Given the description of an element on the screen output the (x, y) to click on. 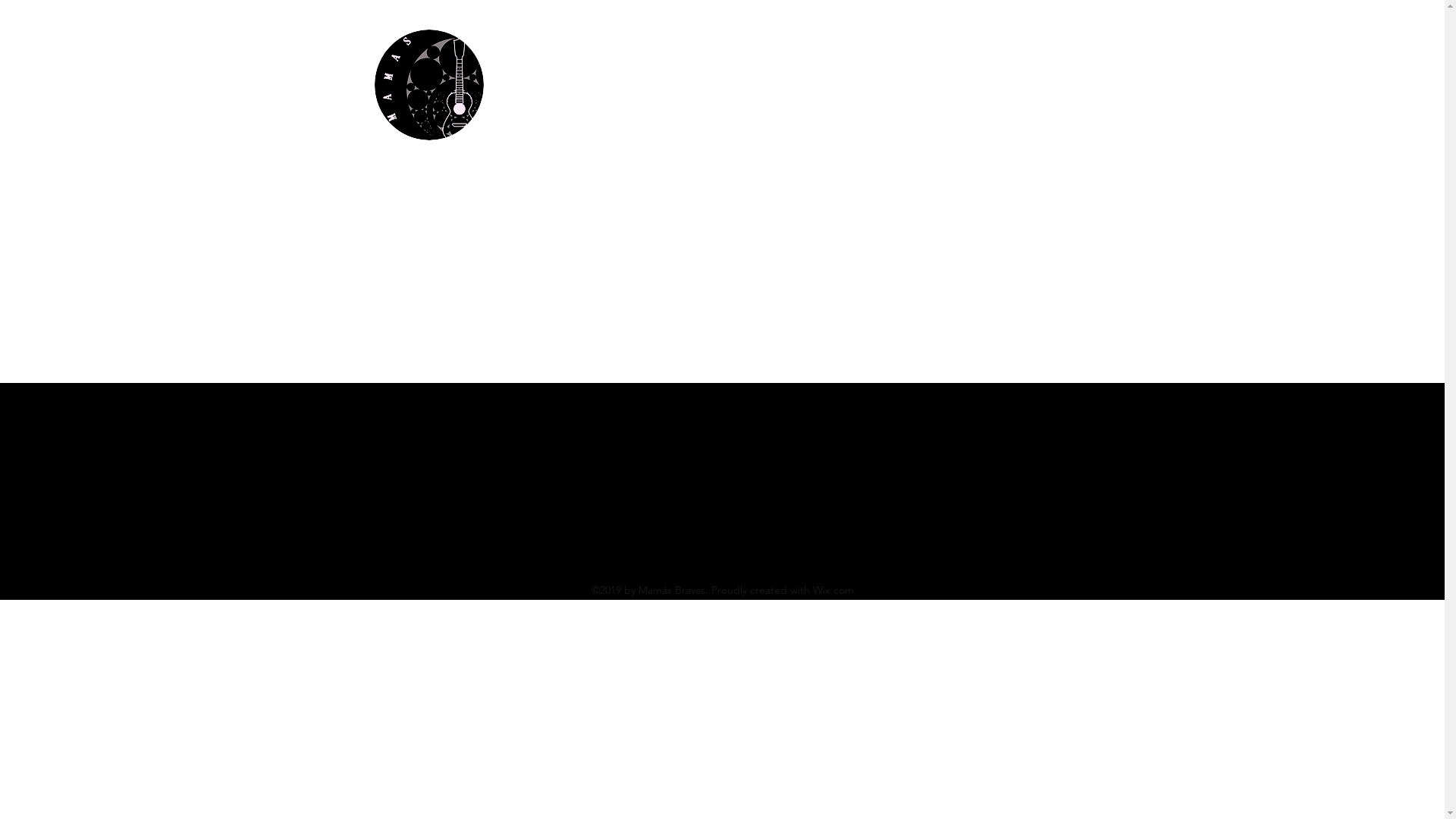
GALLERY Element type: text (800, 41)
HOME Element type: text (563, 41)
PROJECTS Element type: text (721, 41)
OUR STORY Element type: text (642, 41)
CONTACT Element type: text (879, 41)
